Given the description of an element on the screen output the (x, y) to click on. 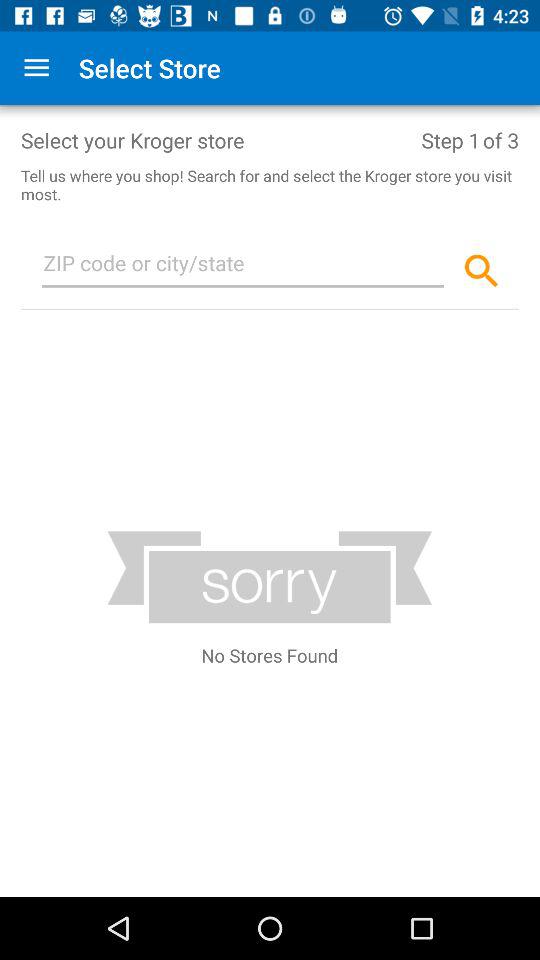
type zip code (243, 267)
